Given the description of an element on the screen output the (x, y) to click on. 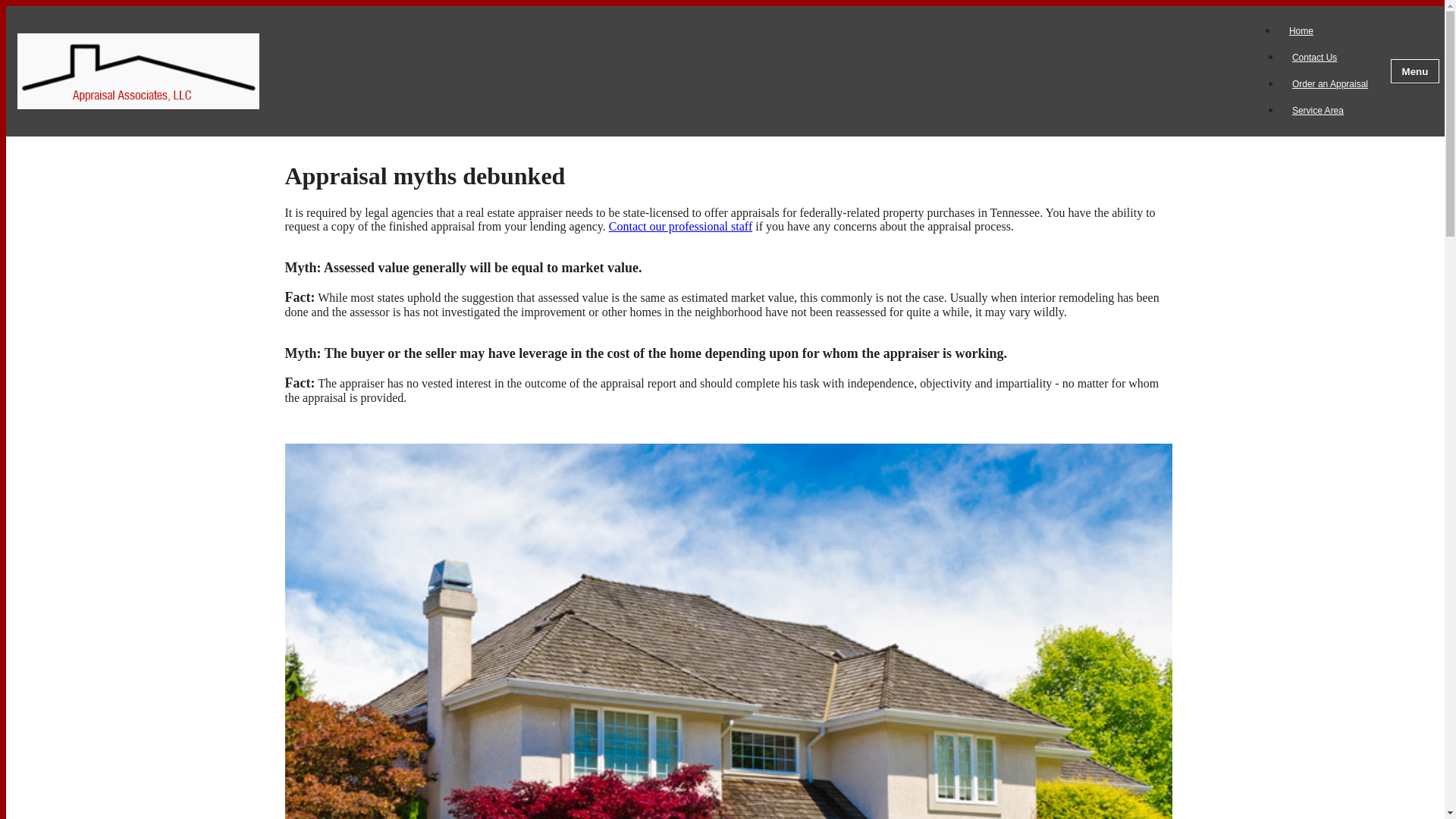
Order an Appraisal (1329, 84)
Menu (1414, 70)
Contact Us (1314, 57)
Service Area (1318, 110)
Contact our professional staff (680, 226)
Home (1301, 30)
